Given the description of an element on the screen output the (x, y) to click on. 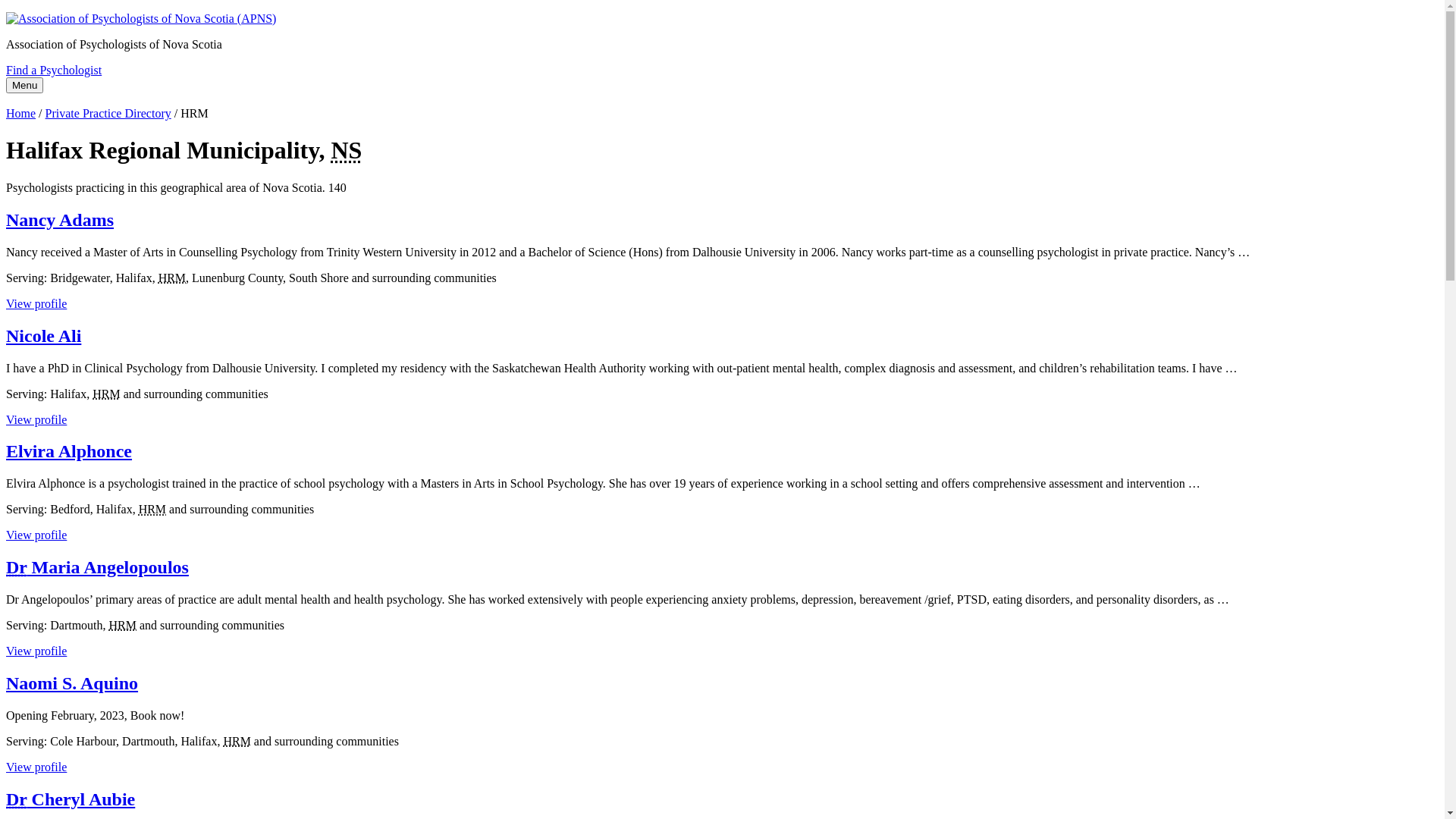
View profile
for Psychologist Maria Angelopoulos. Element type: text (36, 650)
Nancy Adams Element type: text (59, 219)
Menu Element type: text (24, 85)
Elvira Alphonce Element type: text (68, 451)
Nicole Ali Element type: text (43, 335)
Home Element type: text (20, 112)
Dr Maria Angelopoulos Element type: text (97, 567)
View profile
for Psychologist Elvira Alphonce. Element type: text (36, 534)
Dr Cheryl Aubie Element type: text (70, 799)
Naomi S. Aquino Element type: text (72, 683)
View profile
for Psychologist Naomi S. Aquino. Element type: text (36, 766)
View profile
for Psychologist Nicole Ali. Element type: text (36, 418)
View profile
for Psychologist Nancy Adams. Element type: text (36, 303)
Skip to content Element type: text (5, 11)
APNS - Home Element type: hover (722, 18)
Find a Psychologist Element type: text (53, 69)
Private Practice Directory Element type: text (108, 112)
